Given the description of an element on the screen output the (x, y) to click on. 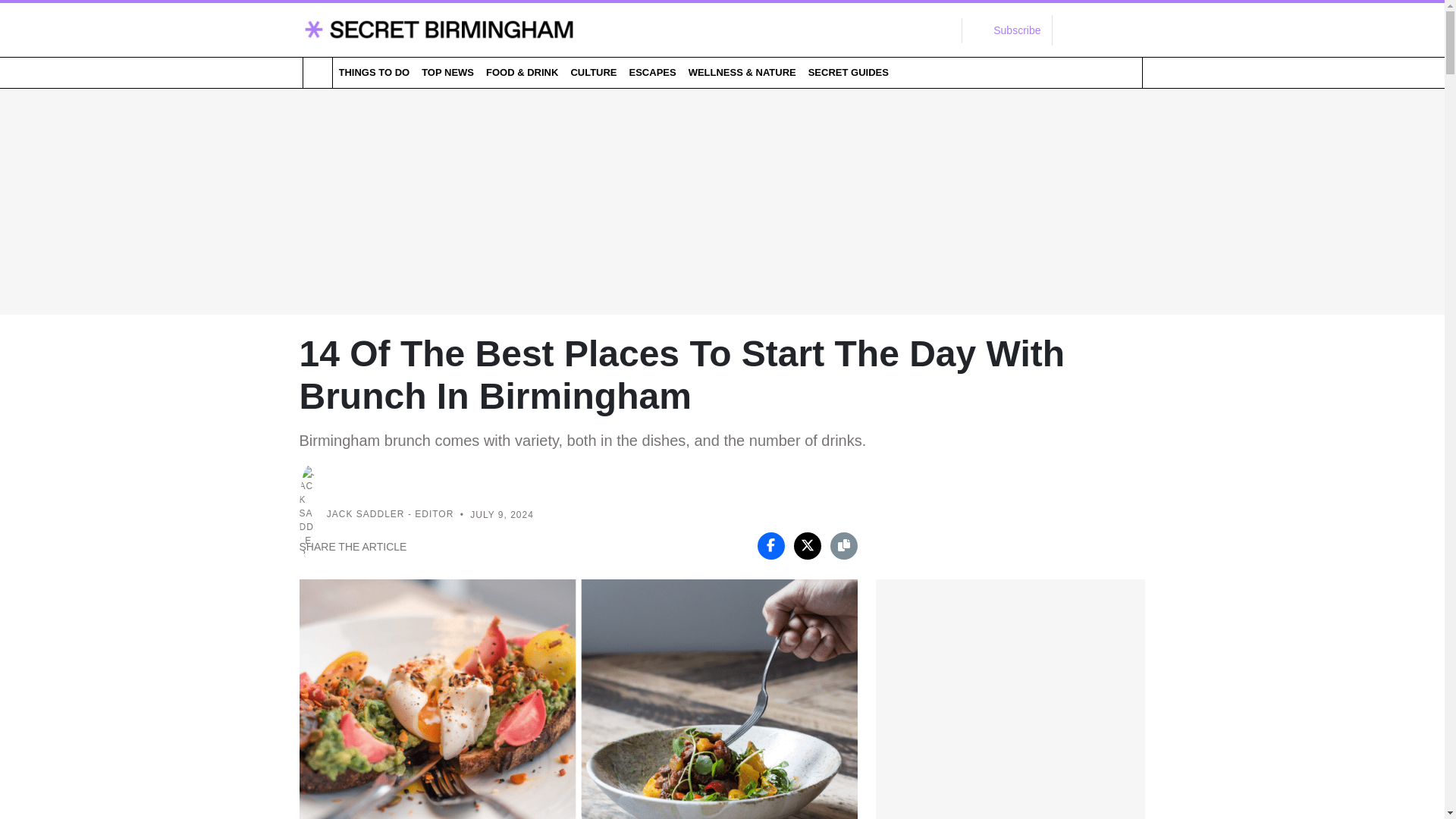
JACK SADDLER (365, 514)
ESCAPES (652, 72)
TOP NEWS (448, 72)
SECRET GUIDES (848, 72)
THINGS TO DO (373, 72)
CULTURE (592, 72)
